Given the description of an element on the screen output the (x, y) to click on. 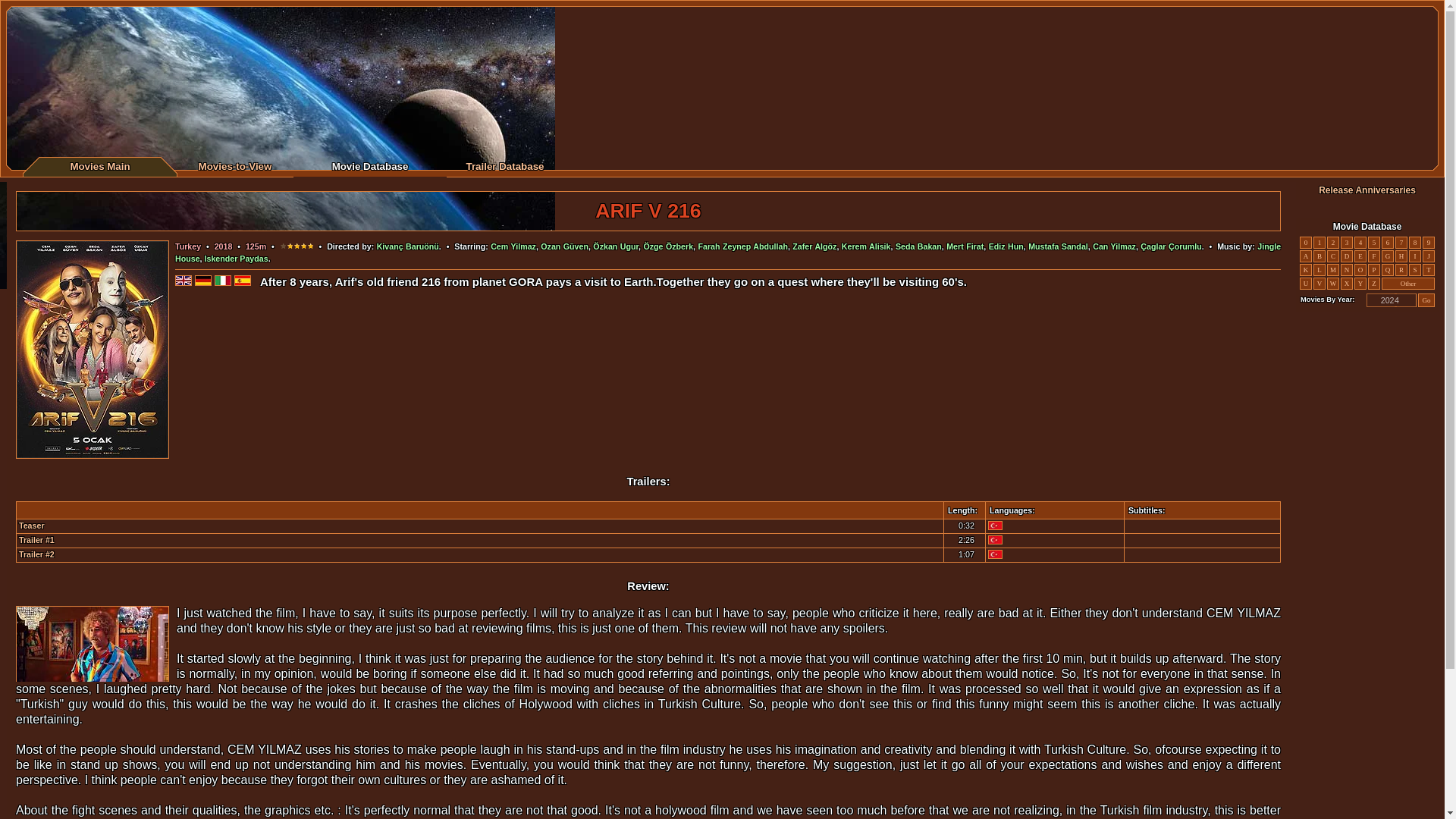
Teaser (31, 524)
Turkish (995, 553)
Release Anniversaries (1367, 190)
Movies-to-View (235, 165)
Trailer Database (504, 165)
Turkish (995, 524)
Movies Main (99, 165)
Turkish (995, 539)
